Given the description of an element on the screen output the (x, y) to click on. 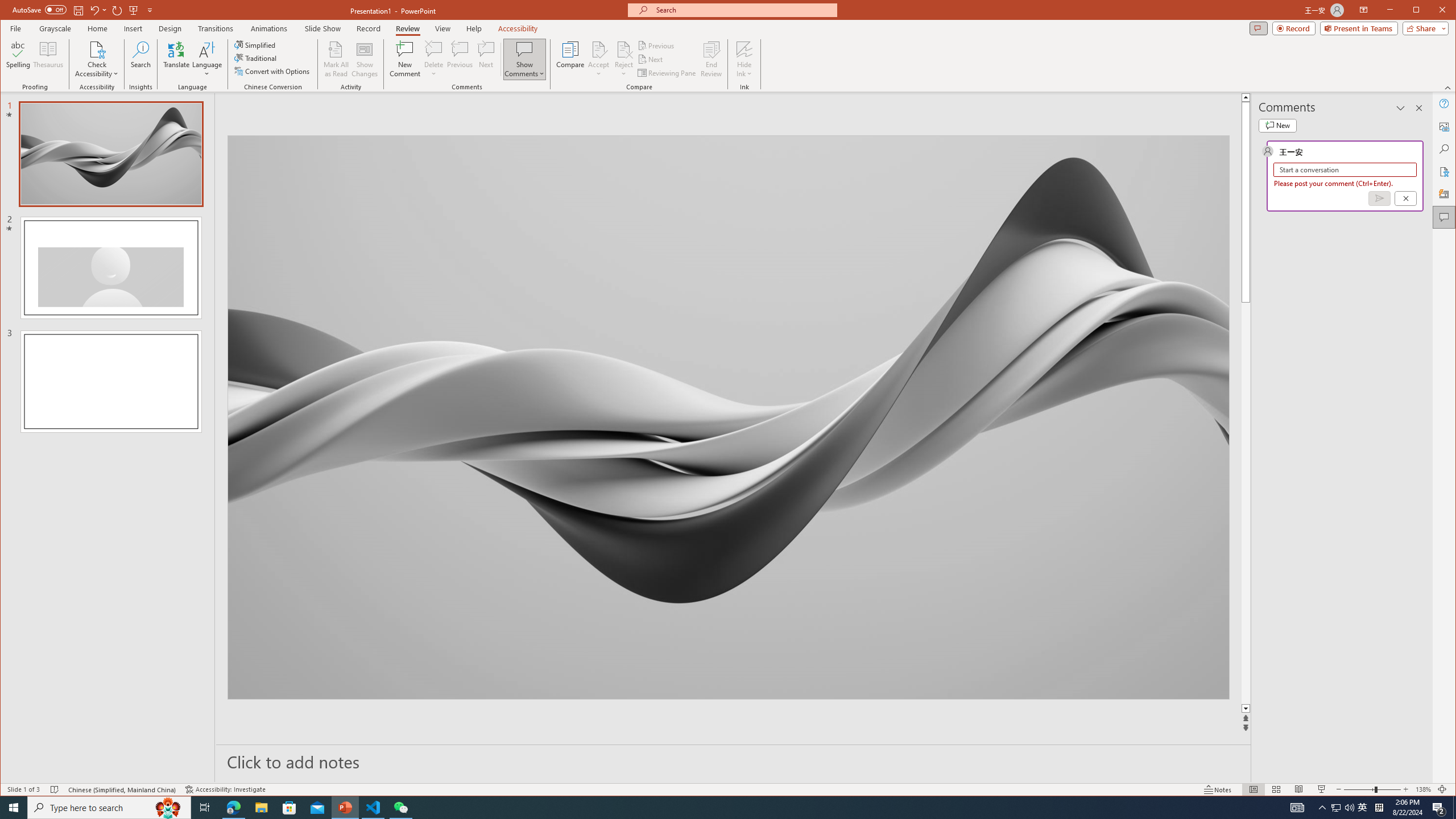
Convert with Options... (272, 70)
Accept Change (598, 48)
Wavy 3D art (728, 416)
